Given the description of an element on the screen output the (x, y) to click on. 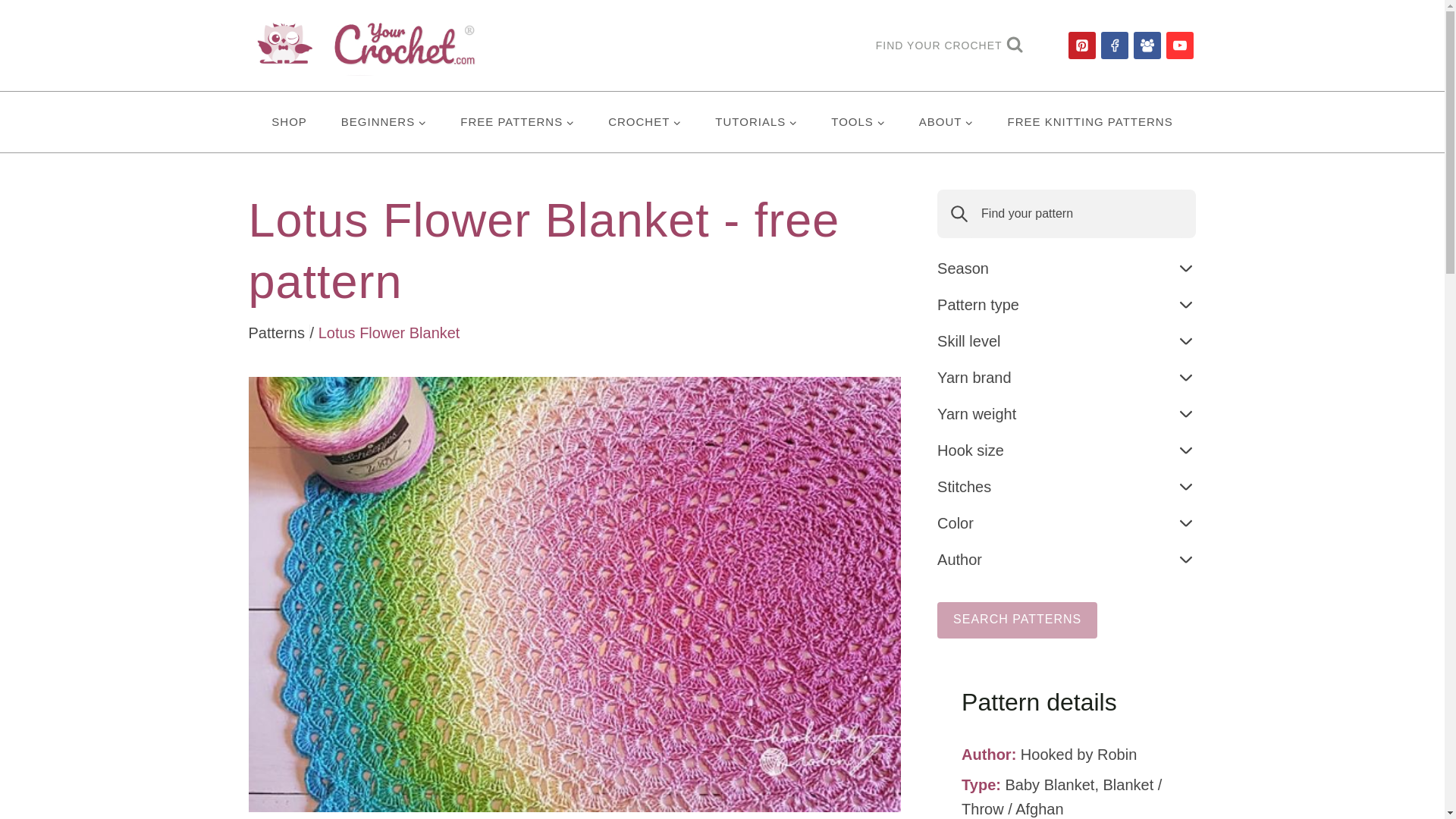
FIND YOUR CROCHET (949, 45)
CROCHET (644, 120)
FREE PATTERNS (517, 120)
BEGINNERS (382, 120)
SHOP (289, 120)
